Given the description of an element on the screen output the (x, y) to click on. 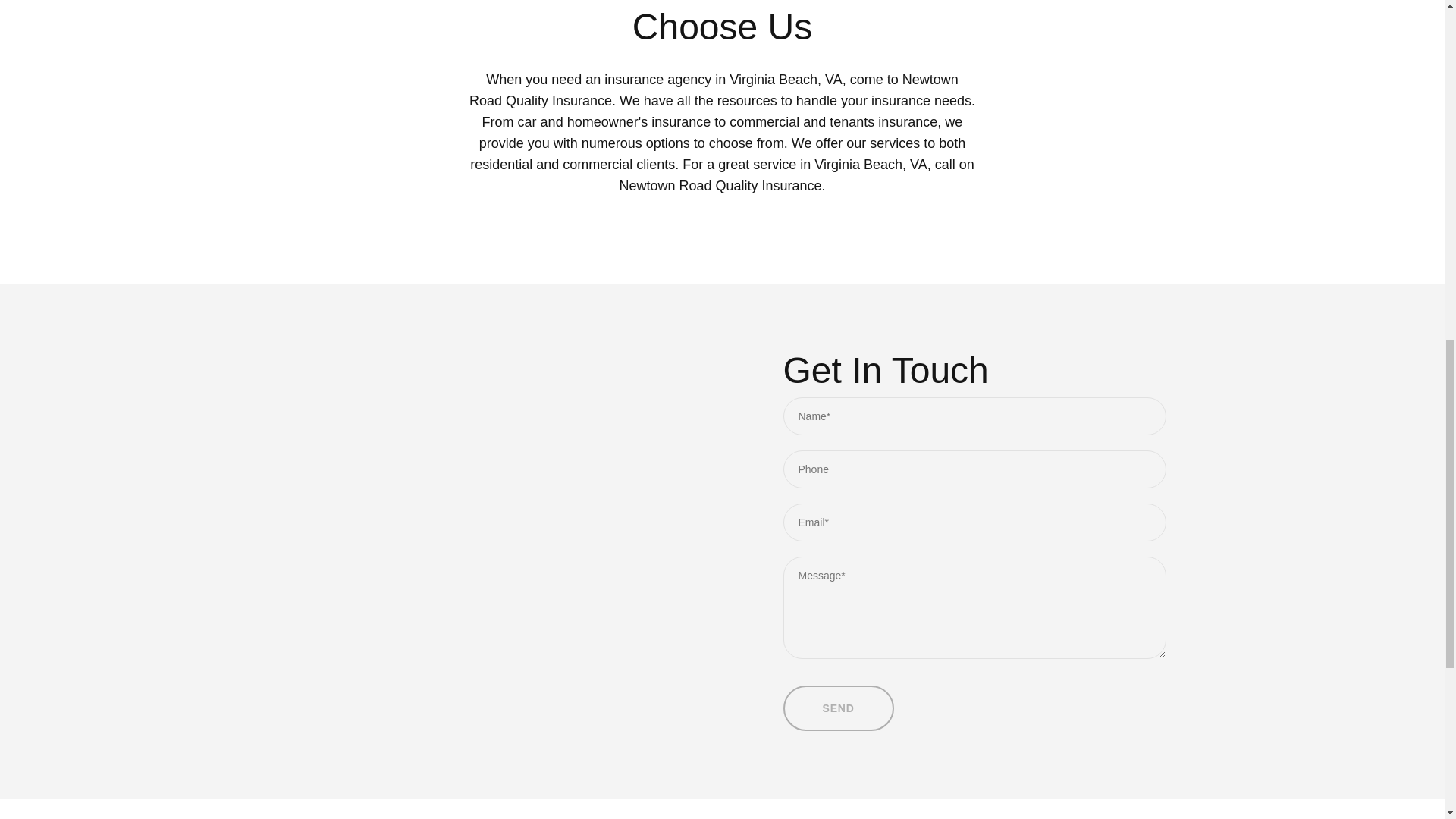
SEND (838, 708)
